Given the description of an element on the screen output the (x, y) to click on. 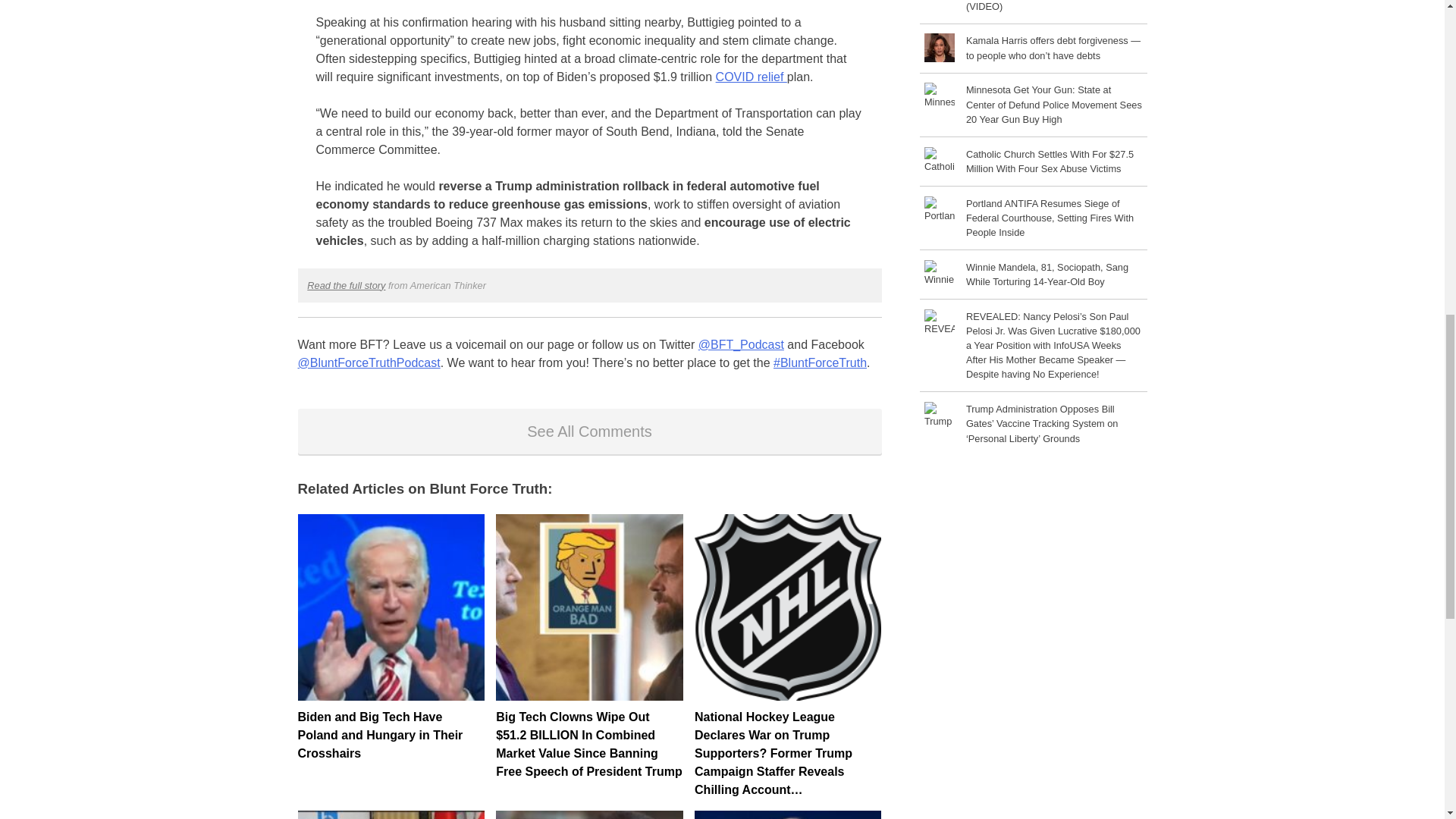
COVID relief  (751, 76)
Read the full story (346, 285)
See All Comments (588, 431)
